Given the description of an element on the screen output the (x, y) to click on. 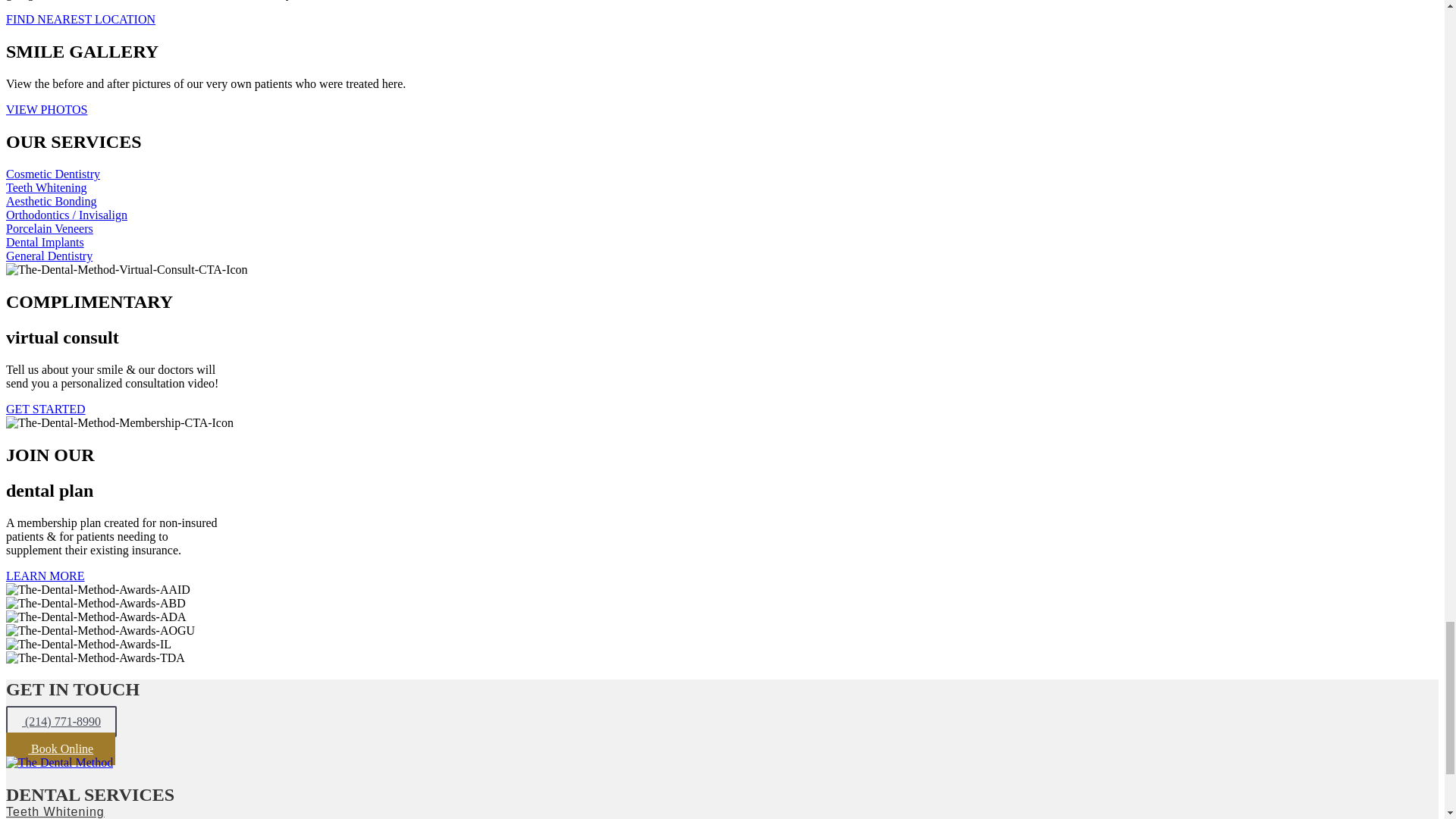
The-Dental-Method-Awards-TDA (94, 657)
The-Dental-Method-Awards-ADA (95, 616)
The-Dental-Method-Awards-AAID (97, 589)
The-Dental-Method-Virtual-Consult-CTA-Icon (126, 269)
The-Dental-Method-Awards-AOGU (100, 630)
The-Dental-Method-Awards-ABD (95, 602)
The-Dental-Method-Awards-IL (88, 643)
The-Dental-Method-Membership-CTA-Icon (118, 422)
